Given the description of an element on the screen output the (x, y) to click on. 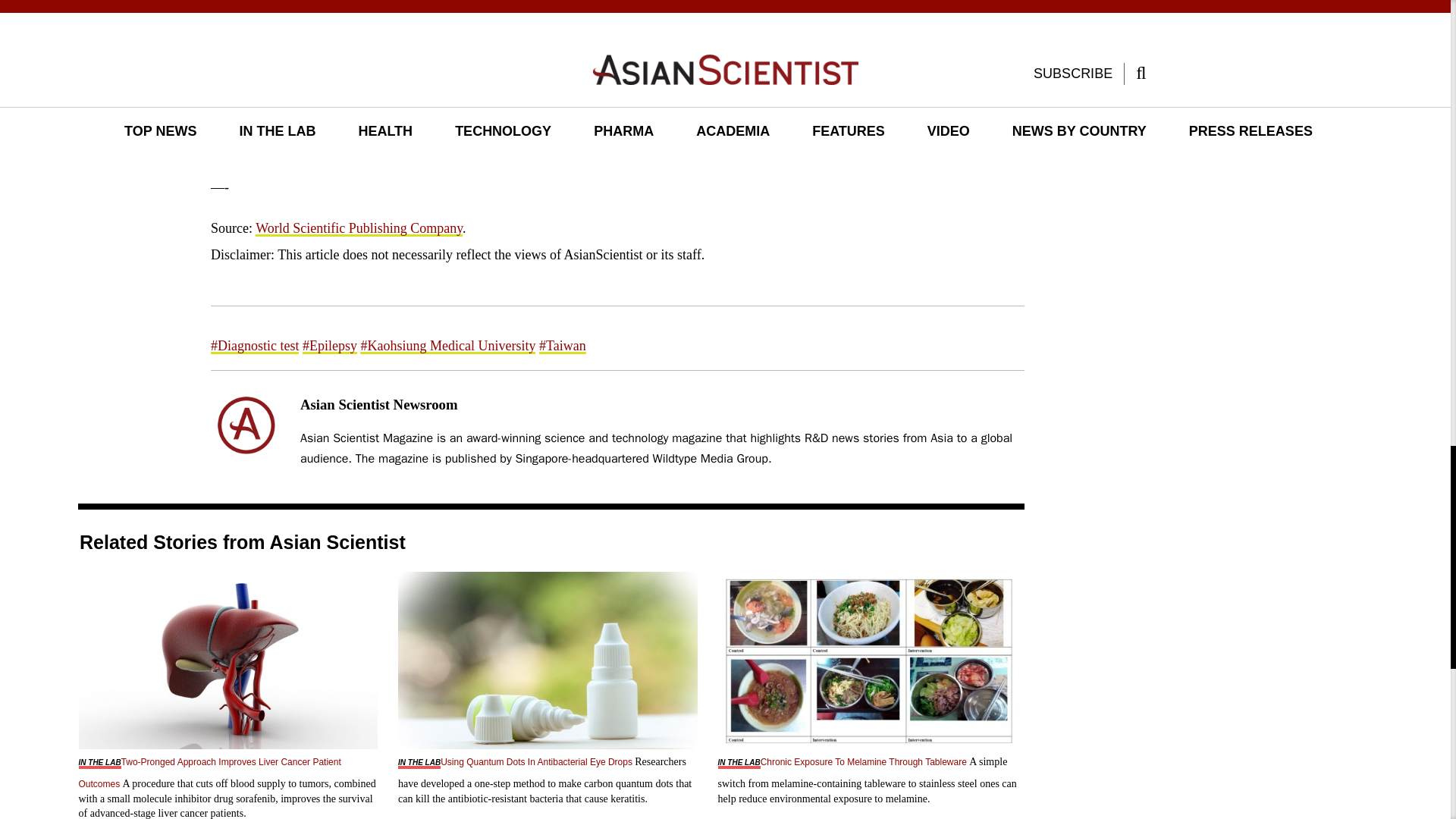
World Scientific Publishing Company (359, 228)
Lin et al. (606, 133)
